Given the description of an element on the screen output the (x, y) to click on. 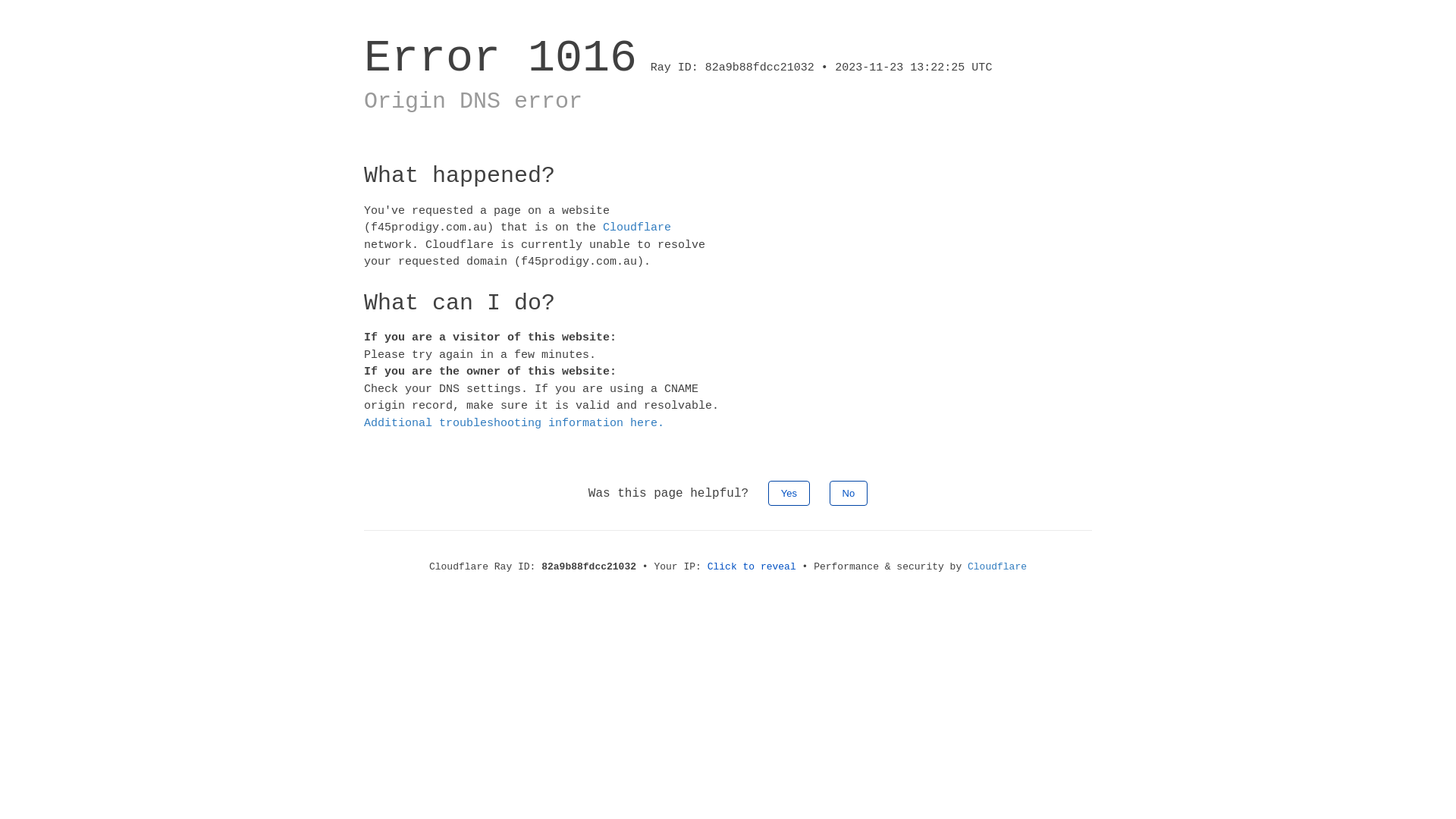
Cloudflare Element type: text (636, 227)
Cloudflare Element type: text (996, 566)
No Element type: text (848, 492)
Additional troubleshooting information here. Element type: text (514, 423)
Yes Element type: text (788, 492)
Click to reveal Element type: text (751, 566)
